Given the description of an element on the screen output the (x, y) to click on. 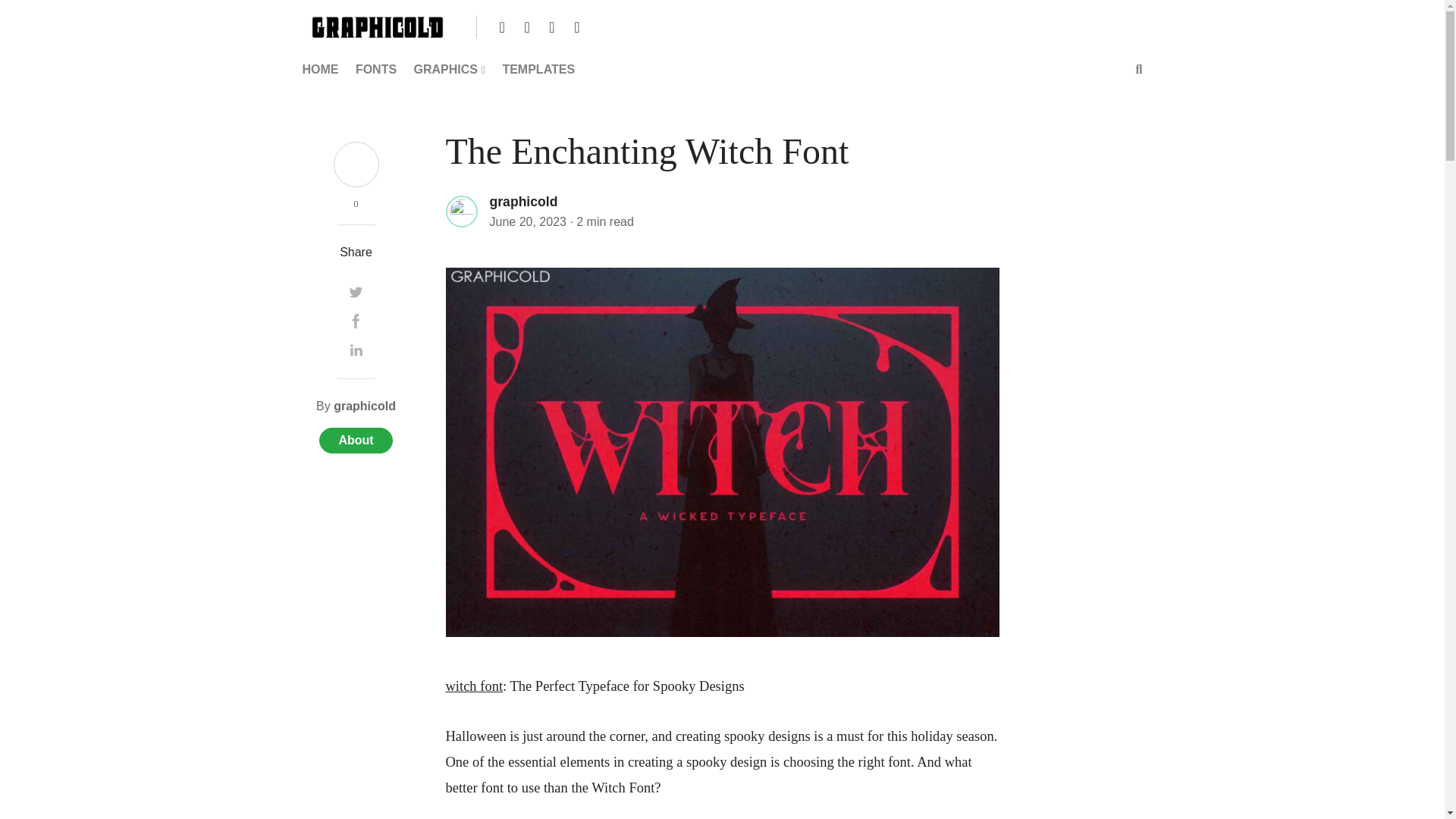
graphicold (523, 199)
TEMPLATES (538, 69)
HOME (323, 69)
FONTS (376, 69)
graphicold (364, 405)
About (354, 440)
Posts by graphicold (364, 405)
Posts by graphicold (523, 201)
witch font (474, 684)
GRAPHICS (448, 69)
